Given the description of an element on the screen output the (x, y) to click on. 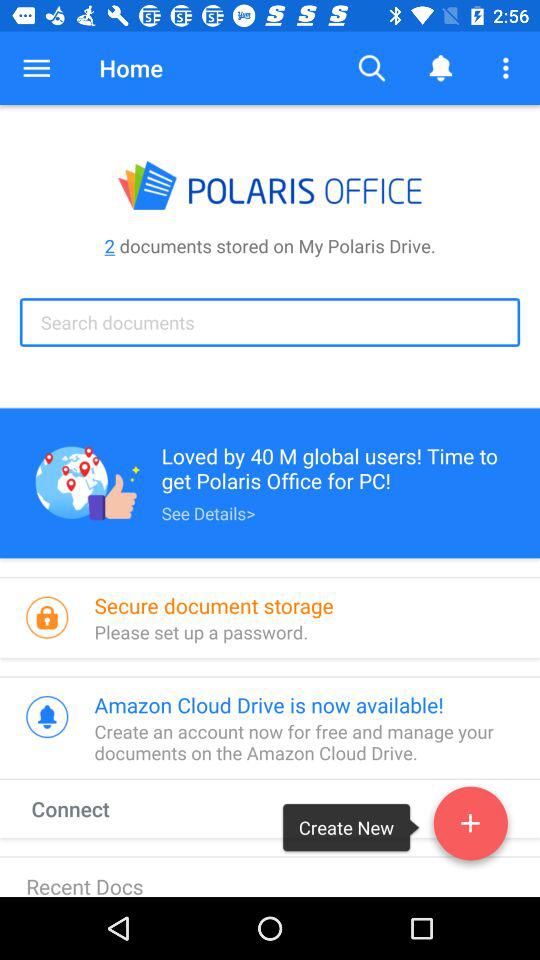
click connect (89, 808)
